Given the description of an element on the screen output the (x, y) to click on. 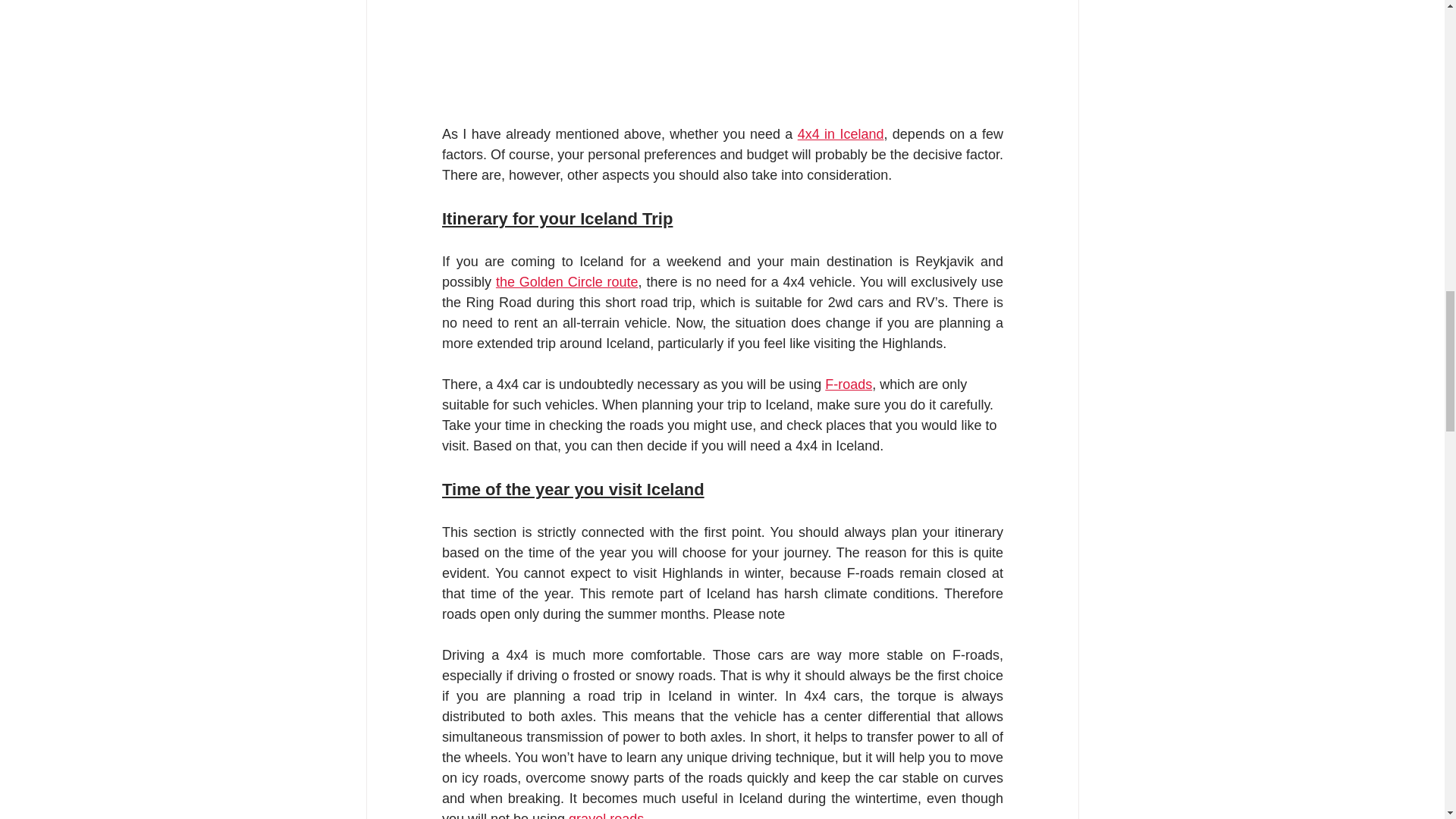
4x4 in Iceland (839, 133)
the Golden Circle route (566, 281)
gravel roads (606, 815)
F-roads (848, 384)
